Given the description of an element on the screen output the (x, y) to click on. 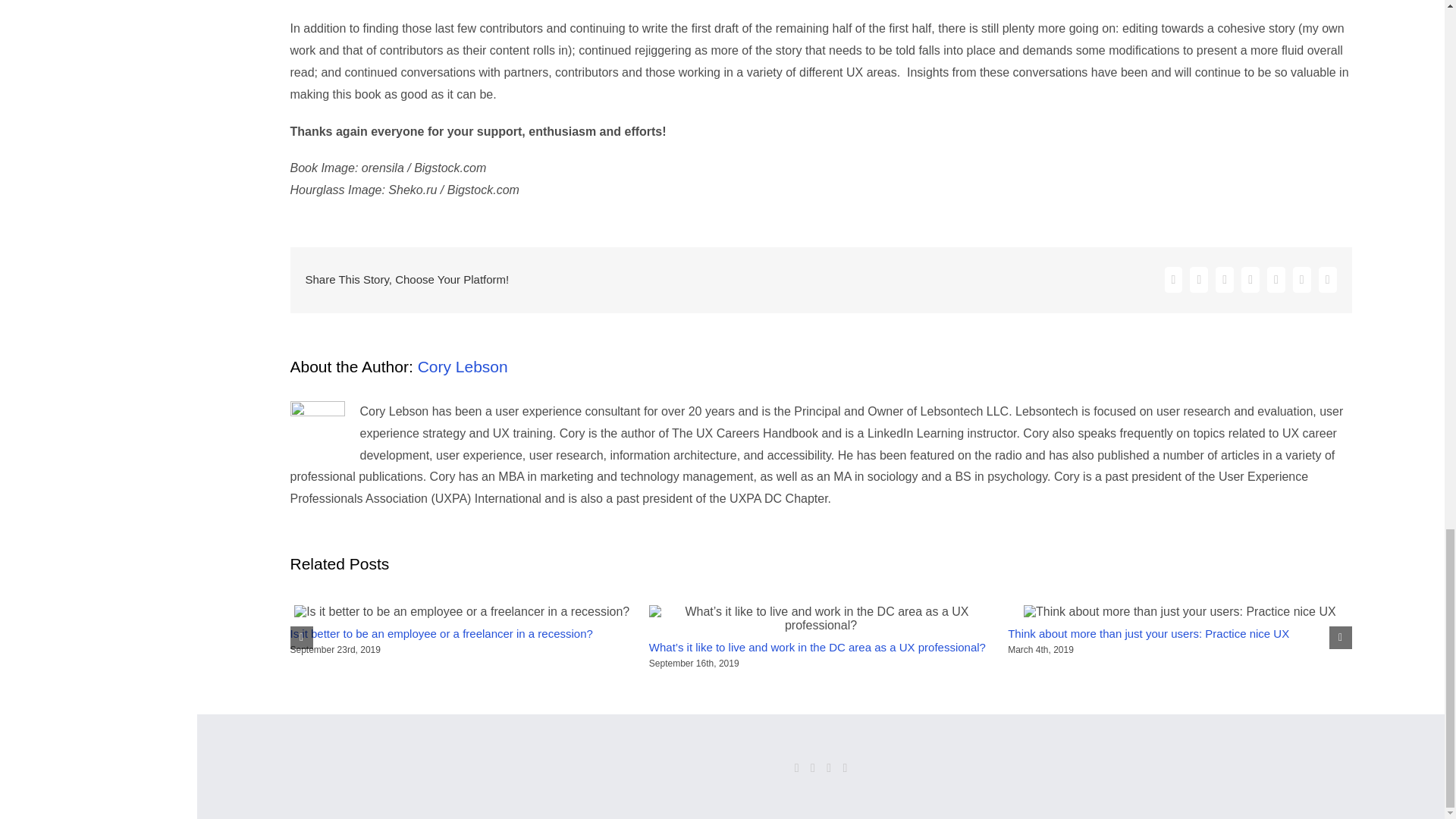
Posts by Cory Lebson (462, 366)
Think about more than just your users: Practice nice UX (1147, 633)
Cory Lebson (462, 366)
Think about more than just your users: Practice nice UX (1147, 633)
